Given the description of an element on the screen output the (x, y) to click on. 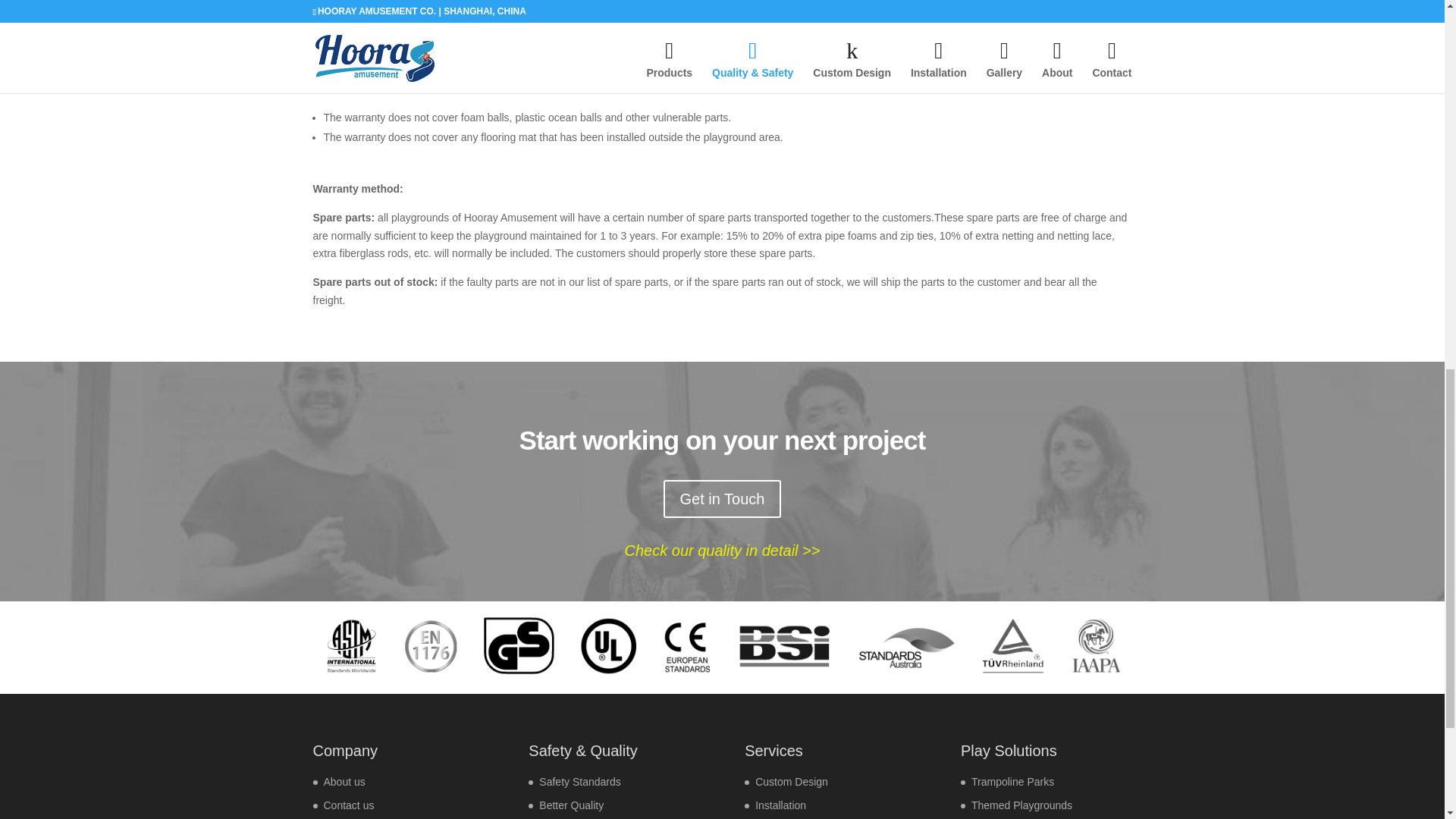
Get in Touch (722, 498)
Better Quality (571, 805)
Safety Standards (579, 781)
Contact us (348, 805)
About us (344, 781)
